Given the description of an element on the screen output the (x, y) to click on. 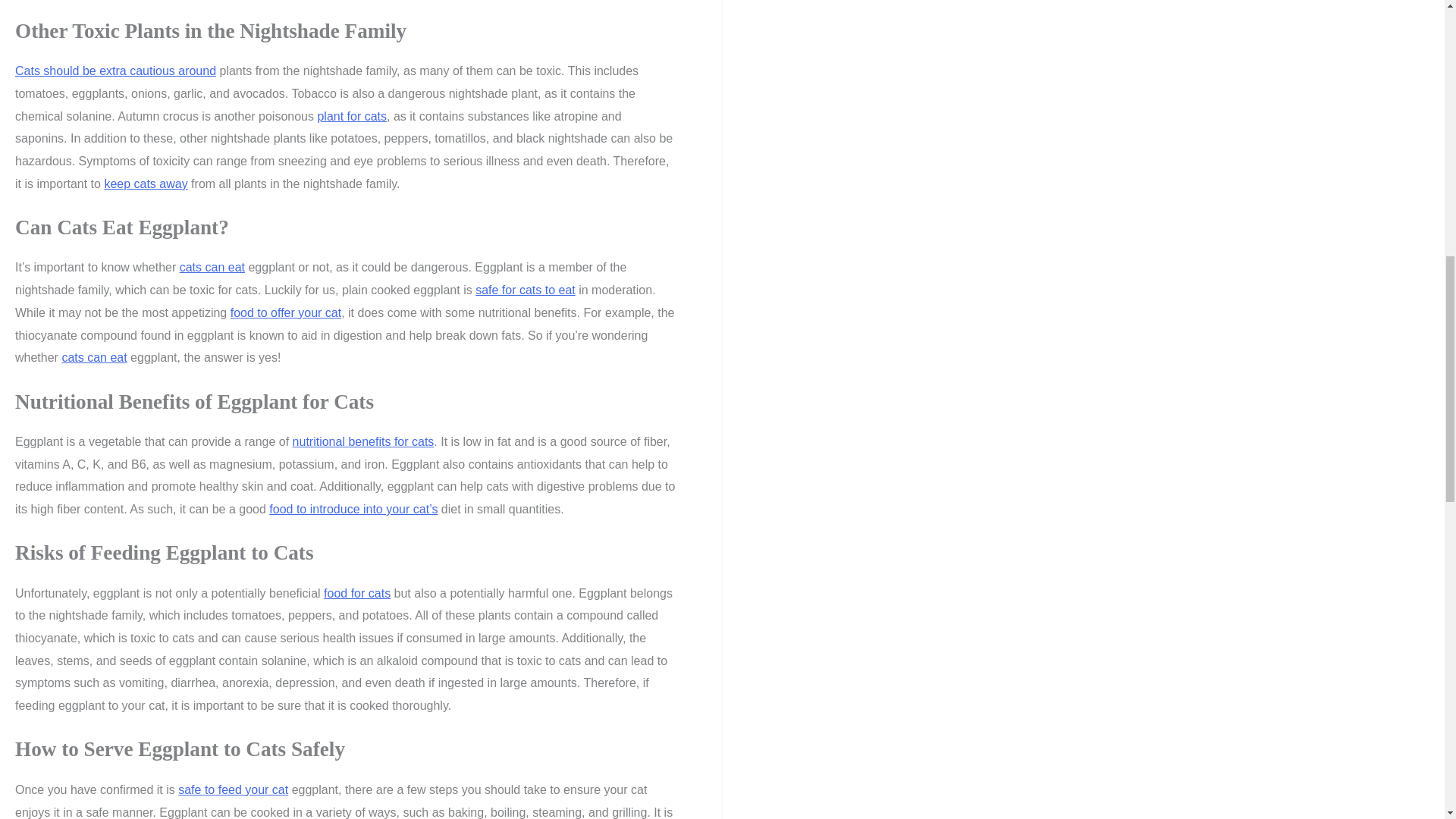
keep cats away (145, 183)
plant for cats (352, 115)
Cats should be extra cautious around (114, 70)
